Given the description of an element on the screen output the (x, y) to click on. 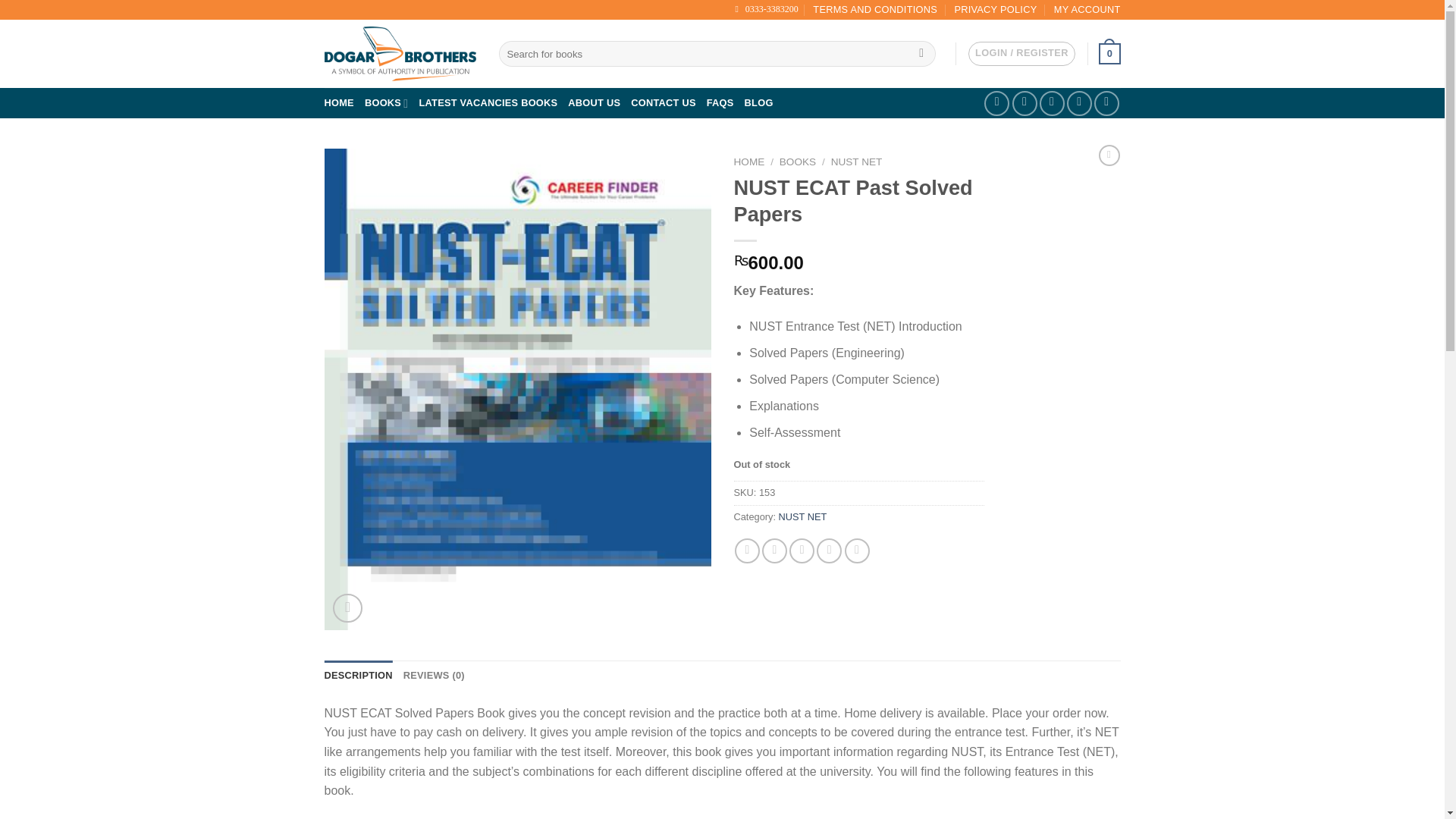
MY ACCOUNT (1087, 9)
Zoom (347, 608)
BOOKS (387, 102)
Follow on Instagram (1023, 103)
Follow on Pinterest (1079, 103)
   0333-3383200 (767, 9)
PRIVACY POLICY (994, 9)
TERMS AND CONDITIONS (874, 9)
Dogar Brothers - A Symbol Of Authority In Publication (400, 53)
Search (921, 53)
